Given the description of an element on the screen output the (x, y) to click on. 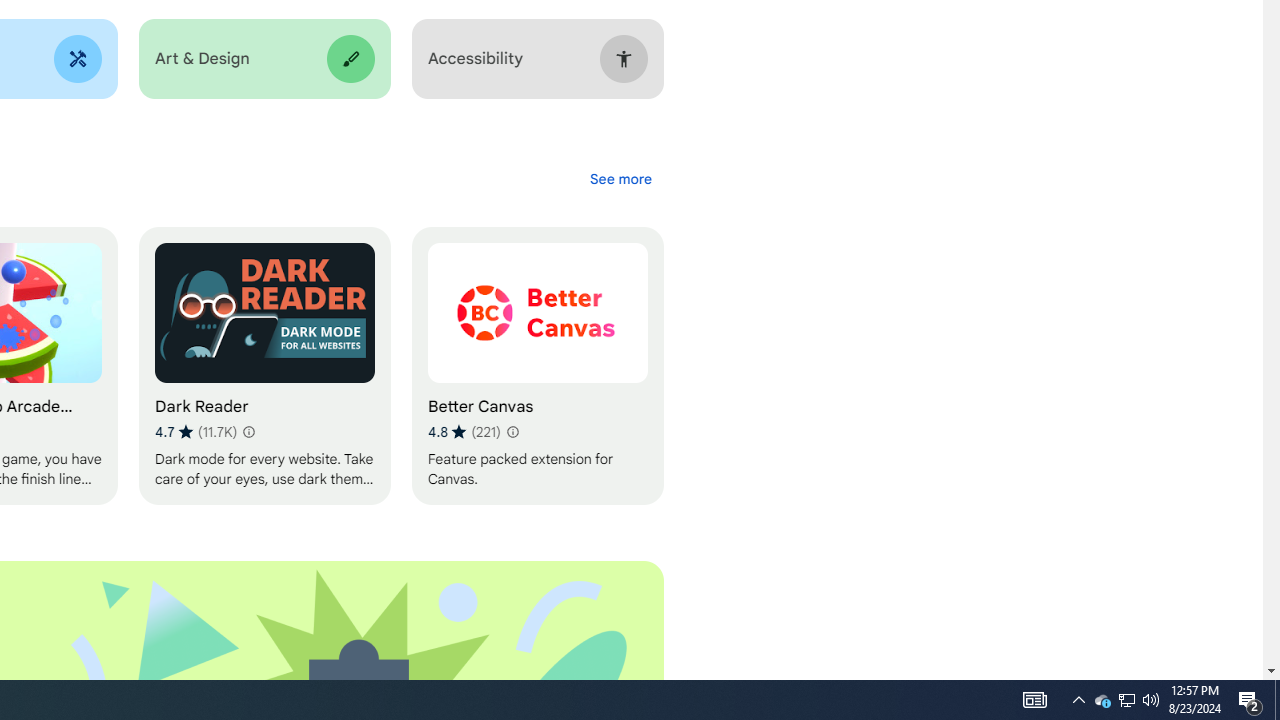
Accessibility (537, 59)
Better Canvas (537, 366)
Learn more about results and reviews "Dark Reader" (247, 431)
Learn more about results and reviews "Better Canvas" (511, 431)
Art & Design (264, 59)
Average rating 4.8 out of 5 stars. 221 ratings. (463, 431)
Average rating 4.7 out of 5 stars. 11.7K ratings. (195, 431)
Dark Reader (264, 366)
See more personalized recommendations (620, 178)
